Given the description of an element on the screen output the (x, y) to click on. 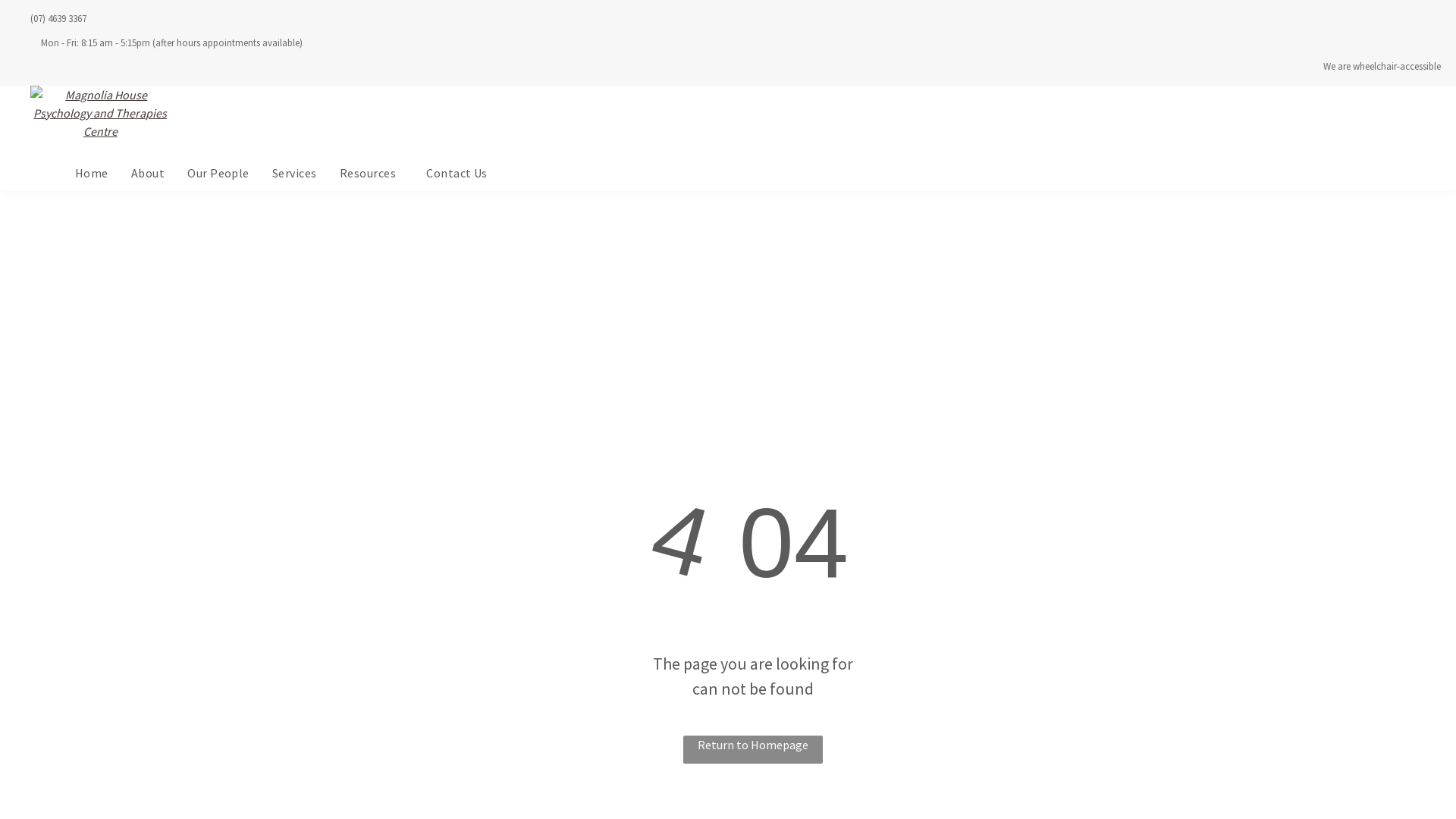
Return to Homepage Element type: text (752, 749)
Contact Us Element type: text (456, 172)
Home Element type: text (91, 172)
About Element type: text (147, 172)
(07) 4639 3367 Element type: text (58, 18)
Services Element type: text (294, 172)
We are wheelchair-accessible Element type: text (1381, 65)
Our People Element type: text (217, 172)
Resources Element type: text (371, 172)
